Given the description of an element on the screen output the (x, y) to click on. 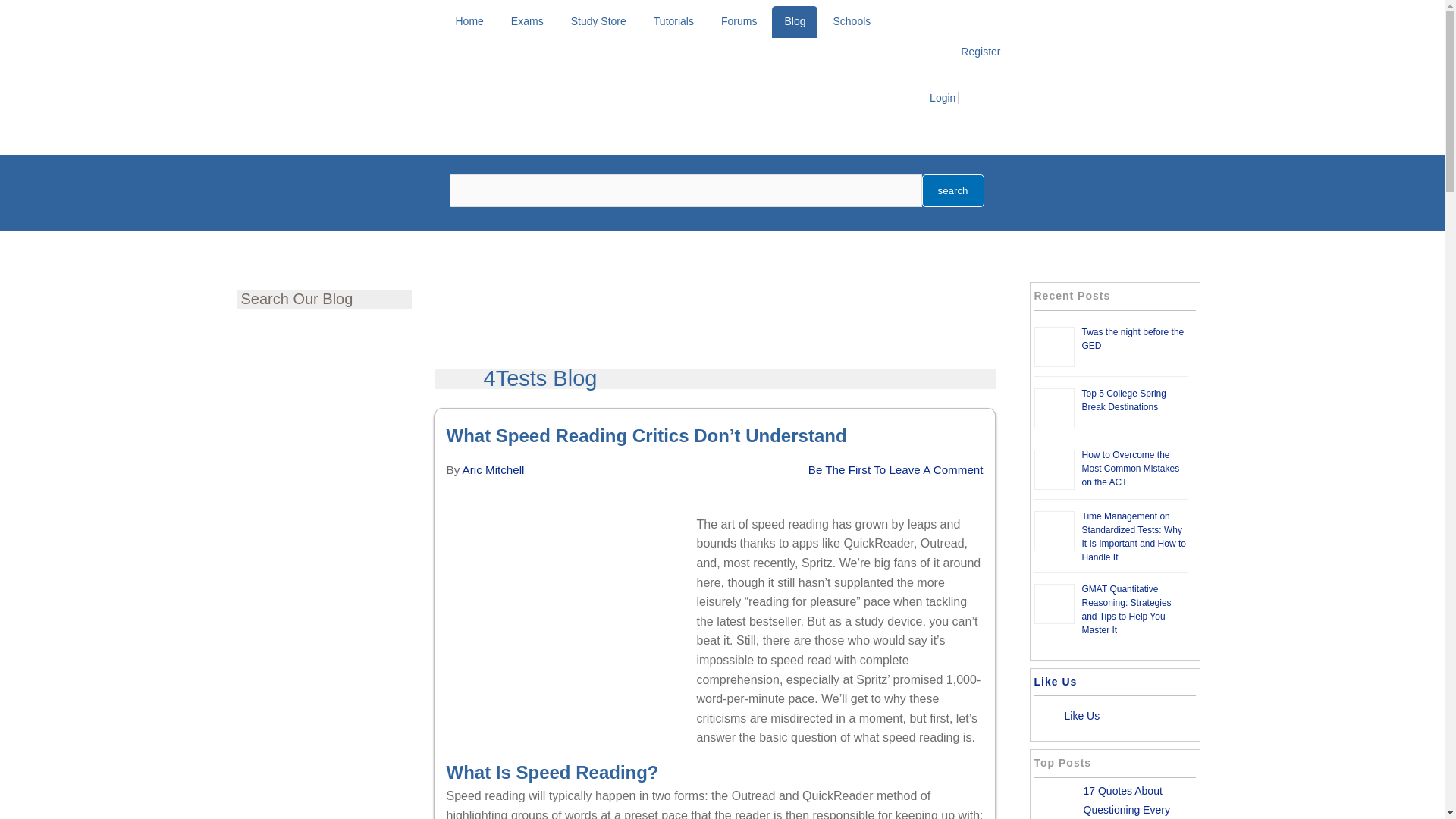
Posts by Aric Mitchell (493, 469)
Exams (527, 21)
search (952, 190)
17 Quotes About Questioning Every Student Should Know (1134, 801)
Home (468, 21)
4Tests.com - Your online practice exam headquarters (377, 215)
